Given the description of an element on the screen output the (x, y) to click on. 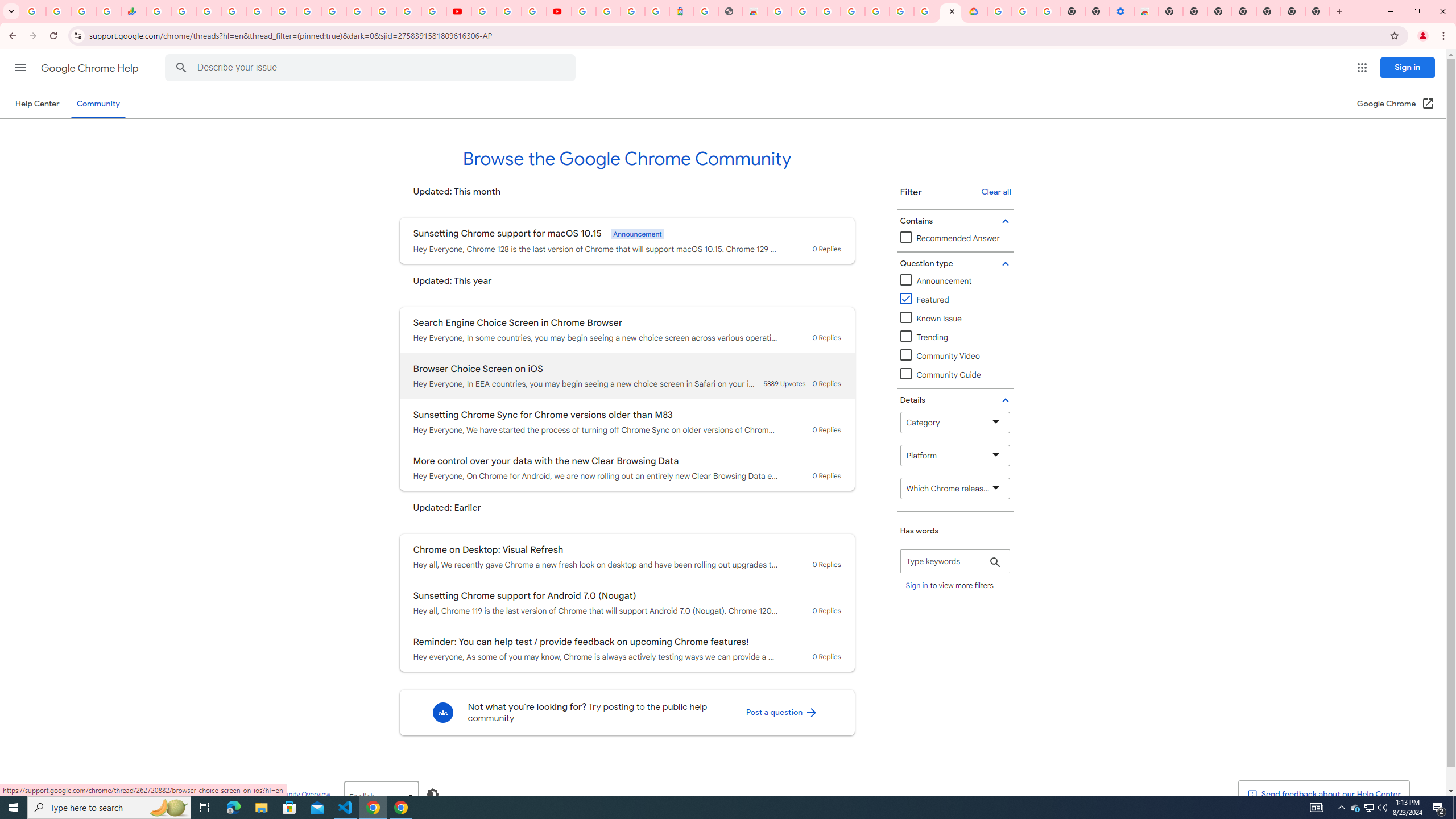
YouTube (458, 11)
YouTube (483, 11)
Google Account Help (1023, 11)
Community (97, 103)
